Given the description of an element on the screen output the (x, y) to click on. 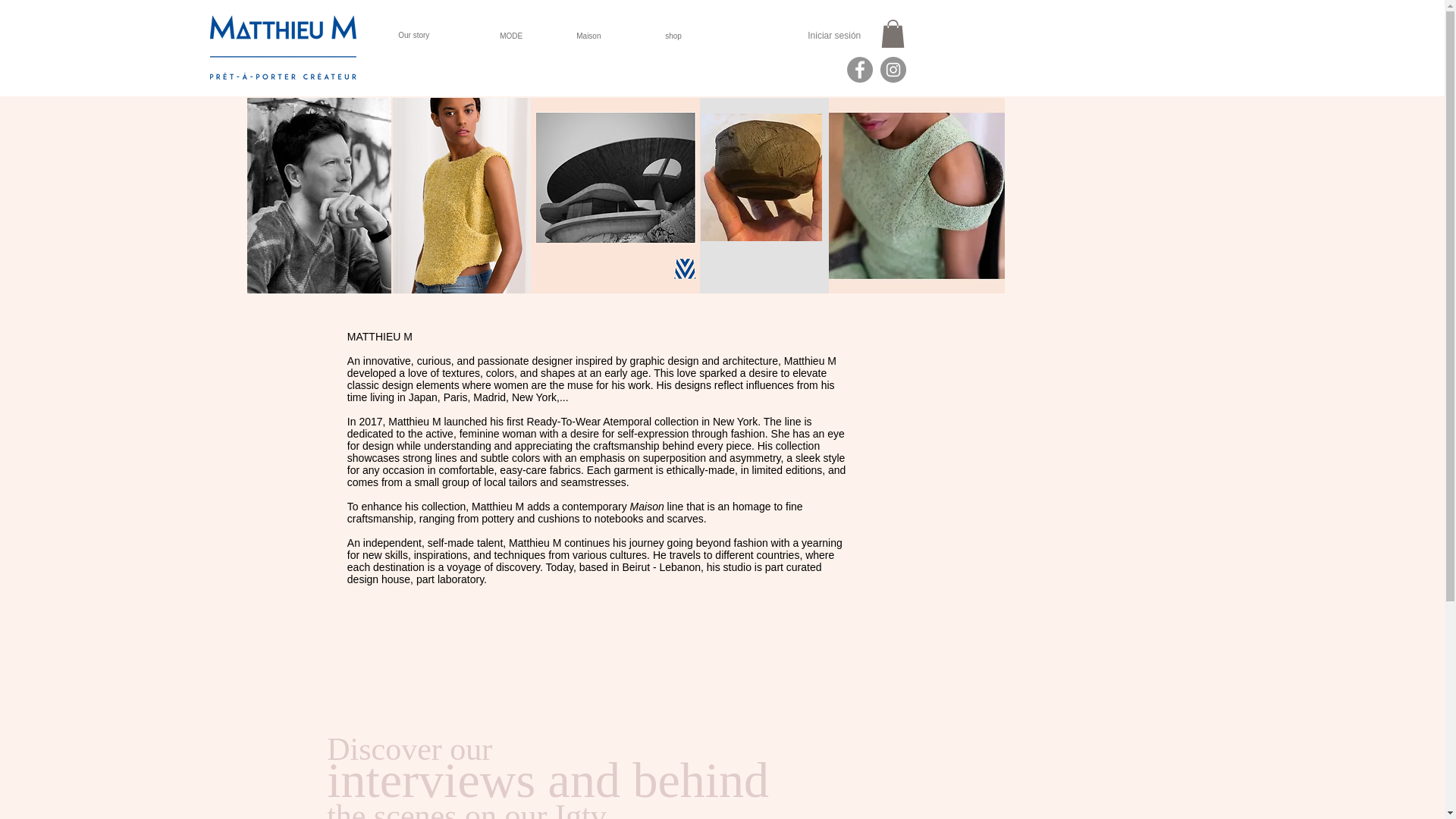
shop (709, 35)
Our story (432, 35)
Maison (547, 785)
MODE (617, 35)
